Given the description of an element on the screen output the (x, y) to click on. 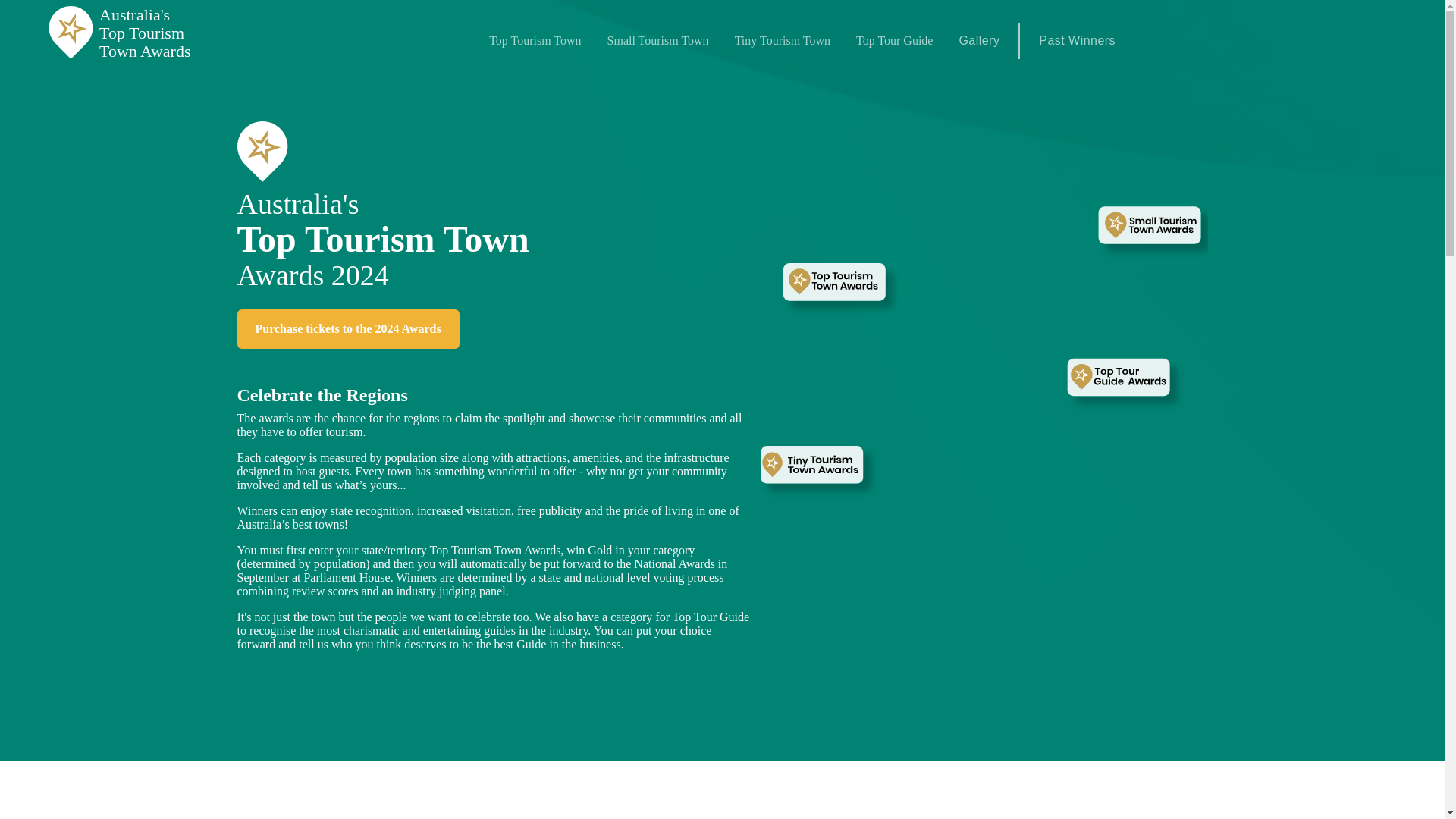
Small Tourism Town (658, 40)
Tiny Tourism Town (782, 40)
Top Tourism Town (535, 40)
Top Tour Guide (893, 40)
Gallery (977, 40)
Purchase tickets to the 2024 Awards (141, 32)
Past Winners (346, 328)
